Given the description of an element on the screen output the (x, y) to click on. 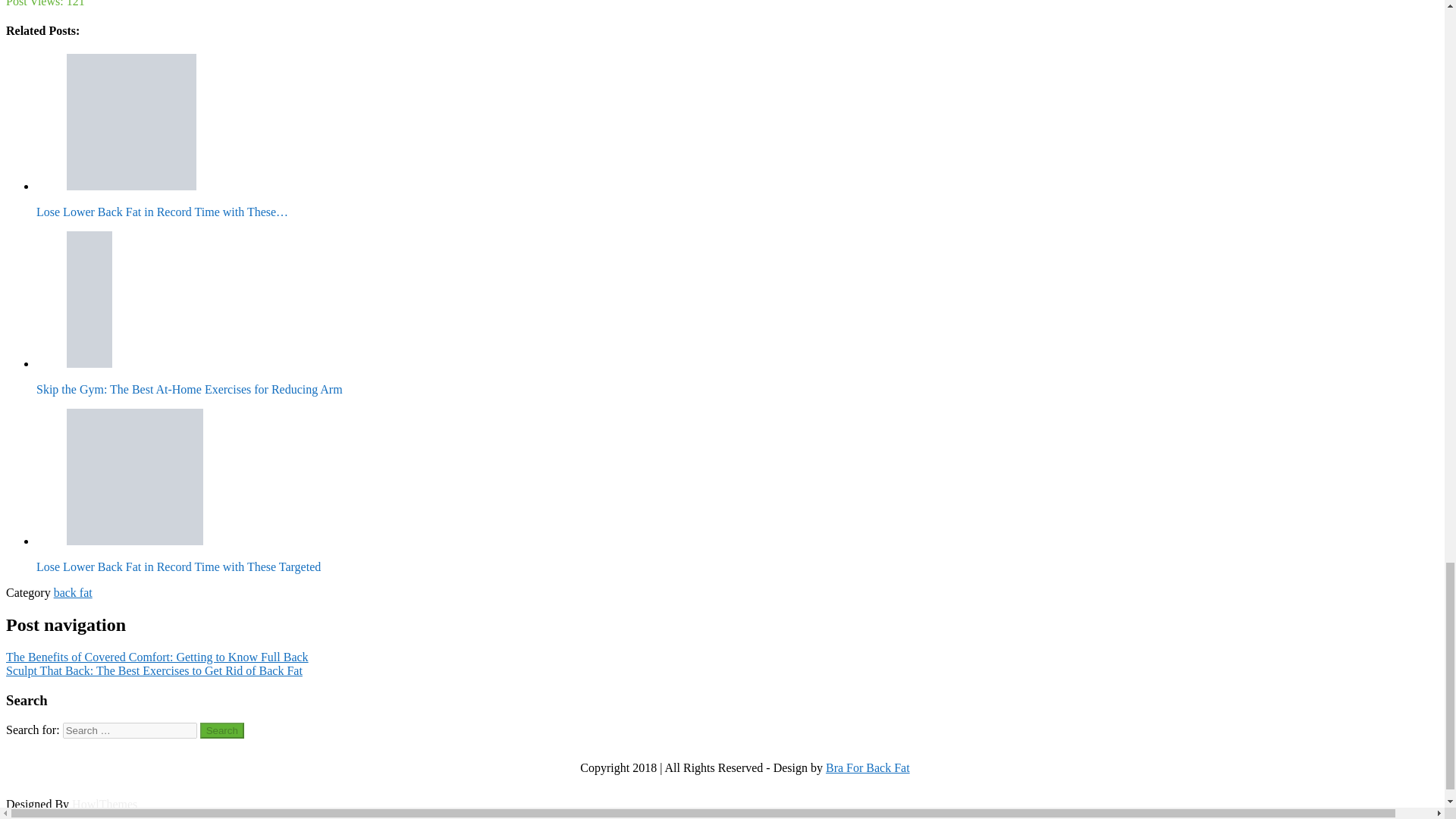
Sculpt That Back: The Best Exercises to Get Rid of Back Fat (153, 670)
The Benefits of Covered Comfort: Getting to Know Full Back (156, 656)
Lose Lower Back Fat in Record Time with These Targeted (134, 476)
Search (222, 730)
back fat (73, 592)
Search (222, 730)
